Given the description of an element on the screen output the (x, y) to click on. 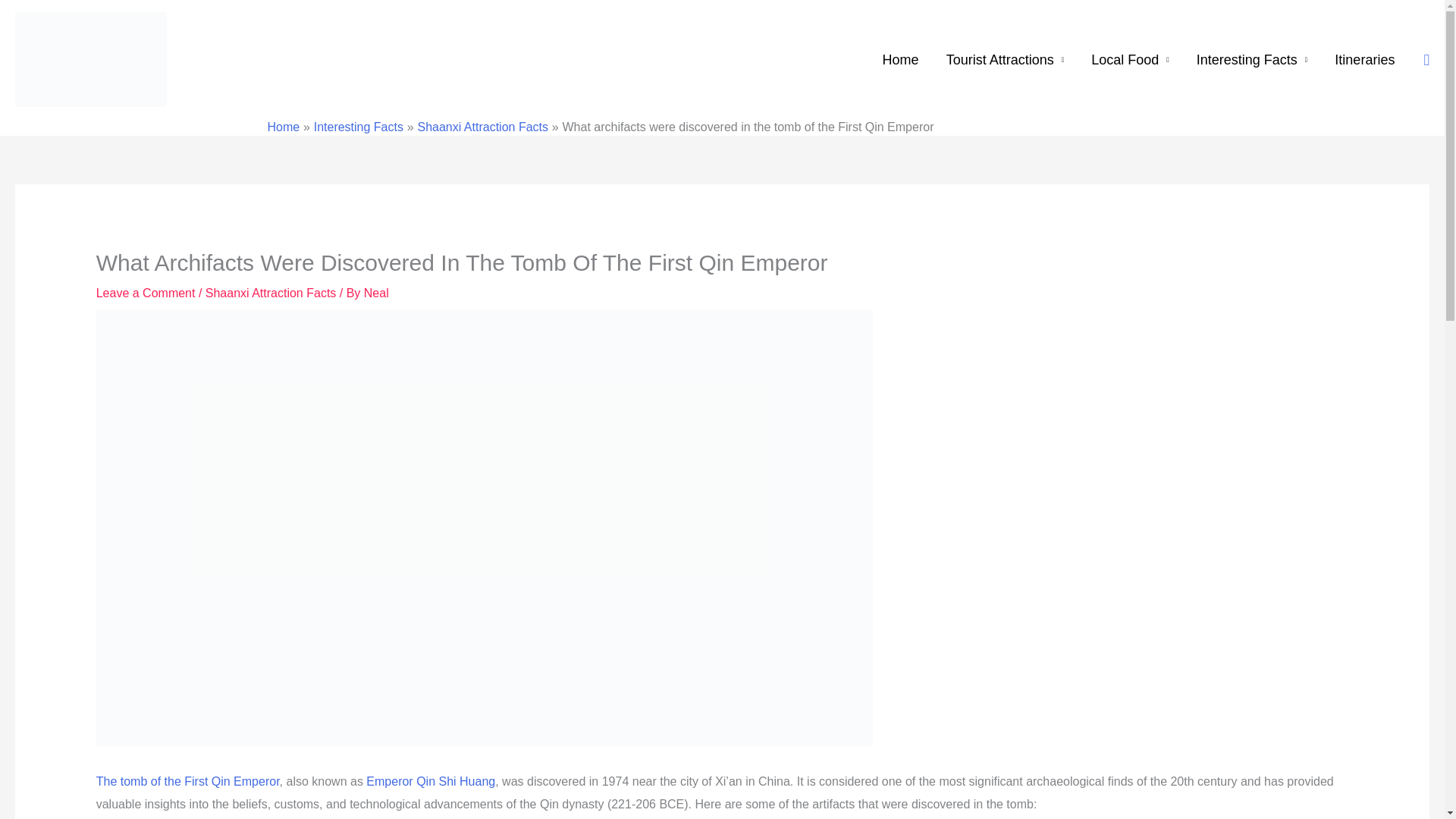
Home (901, 59)
View all posts by Neal (376, 292)
Tourist Attractions (1005, 59)
